Given the description of an element on the screen output the (x, y) to click on. 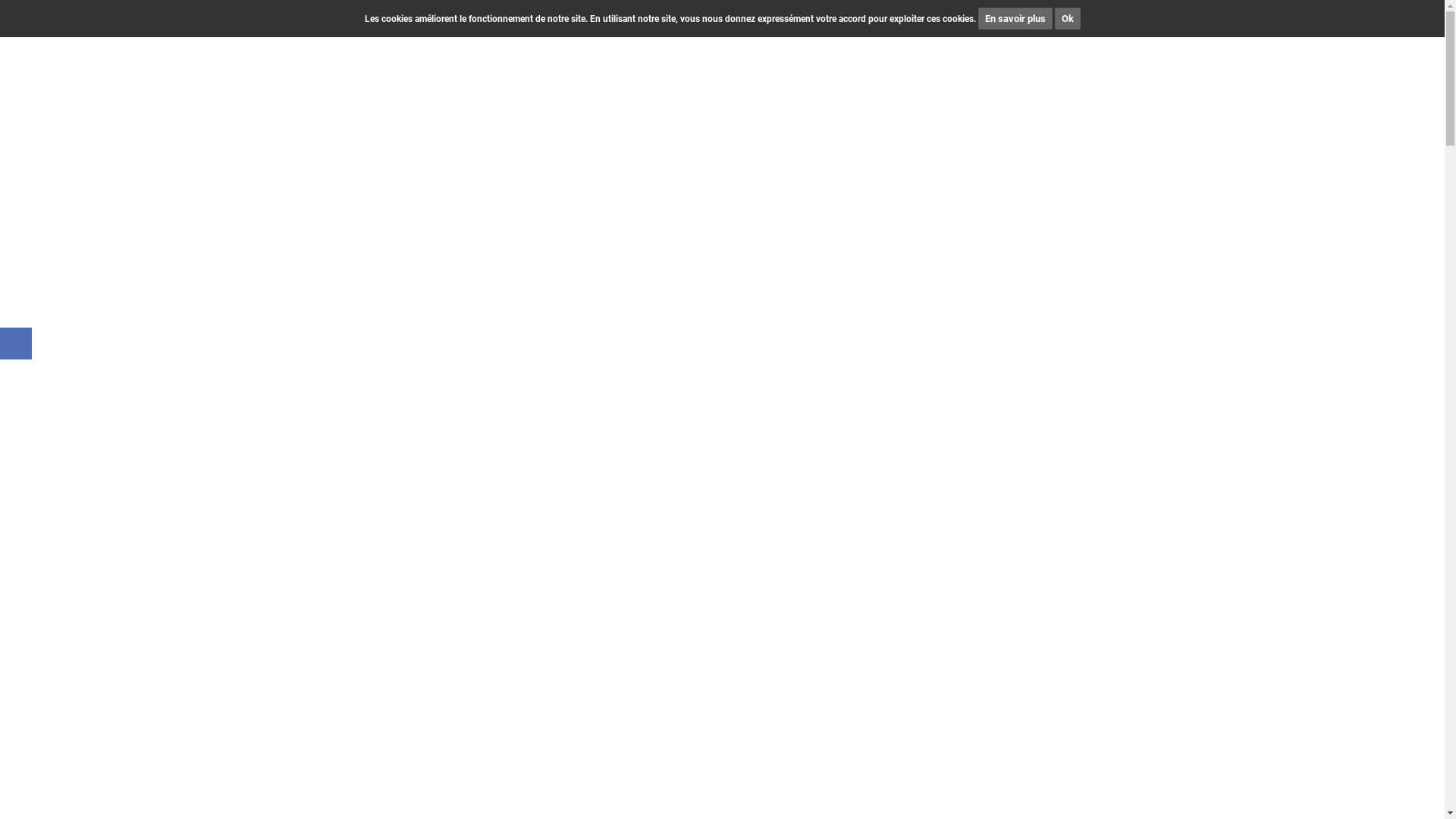
Page Facebook de CIM Immobilier Element type: hover (15, 343)
Ok Element type: text (1066, 18)
En savoir plus Element type: text (1015, 18)
